Given the description of an element on the screen output the (x, y) to click on. 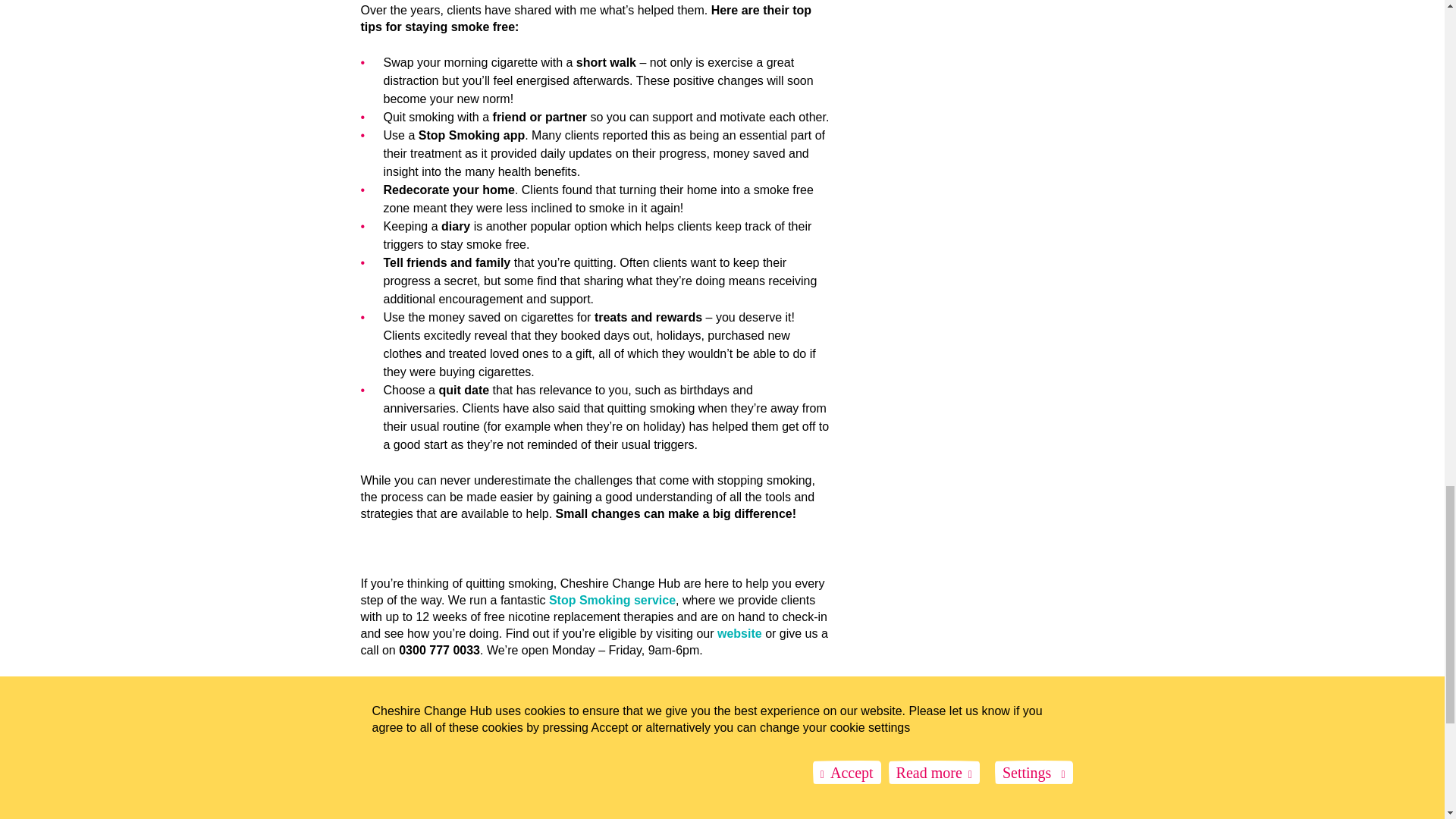
here (403, 789)
website (739, 633)
Stop Smoking service (611, 599)
here (403, 754)
